Given the description of an element on the screen output the (x, y) to click on. 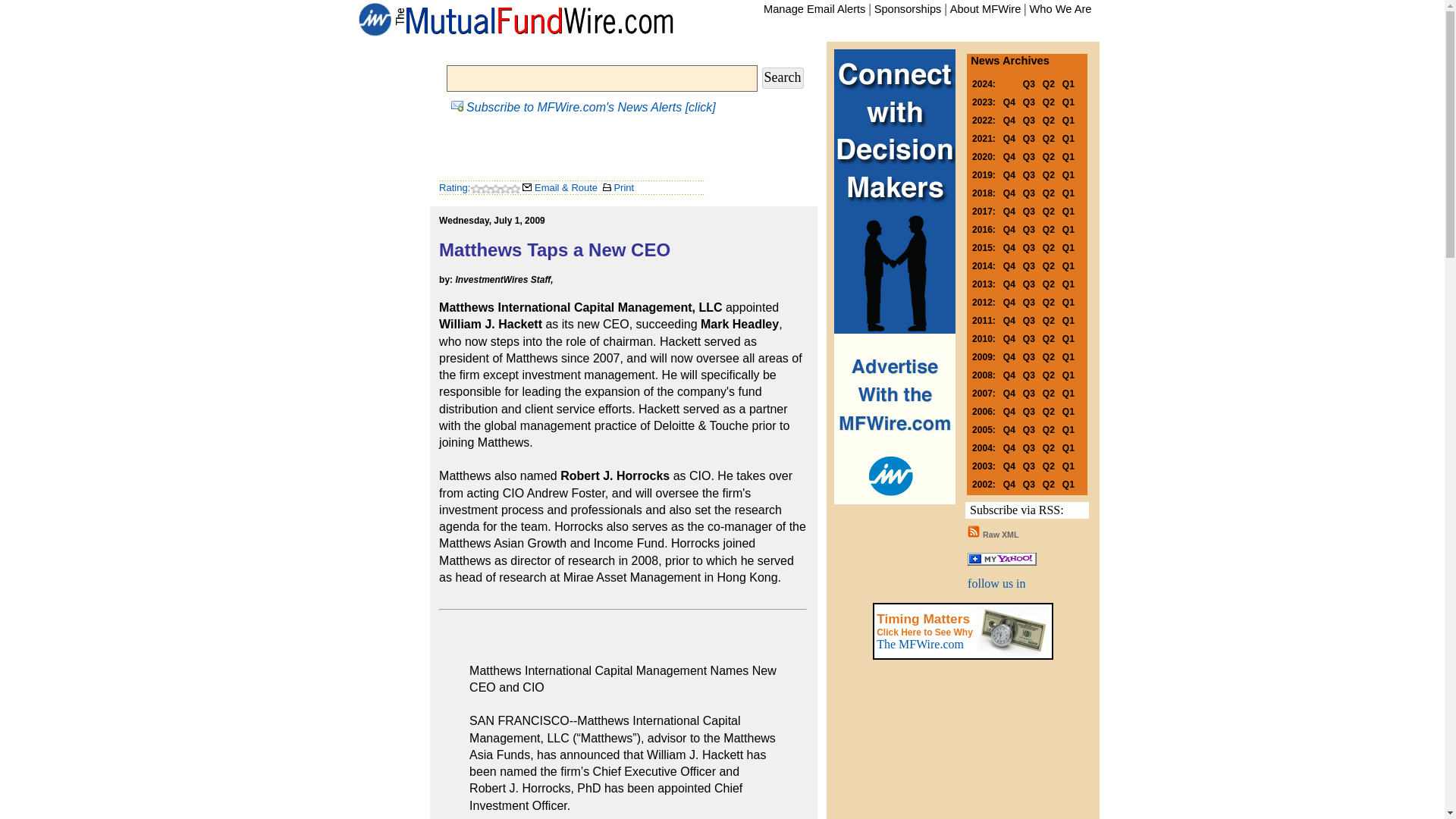
Q4 (1008, 137)
Q2 (1048, 101)
Search (782, 77)
Search (782, 77)
Q1 (1068, 137)
Q3 (1029, 137)
Search (782, 77)
Q1 (1068, 119)
Sponsorships (908, 8)
Q2 (1048, 82)
Rating: (454, 187)
Who We Are (1060, 8)
Q1 (1068, 82)
Manage Email Alerts (813, 8)
Q4 (1008, 119)
